Given the description of an element on the screen output the (x, y) to click on. 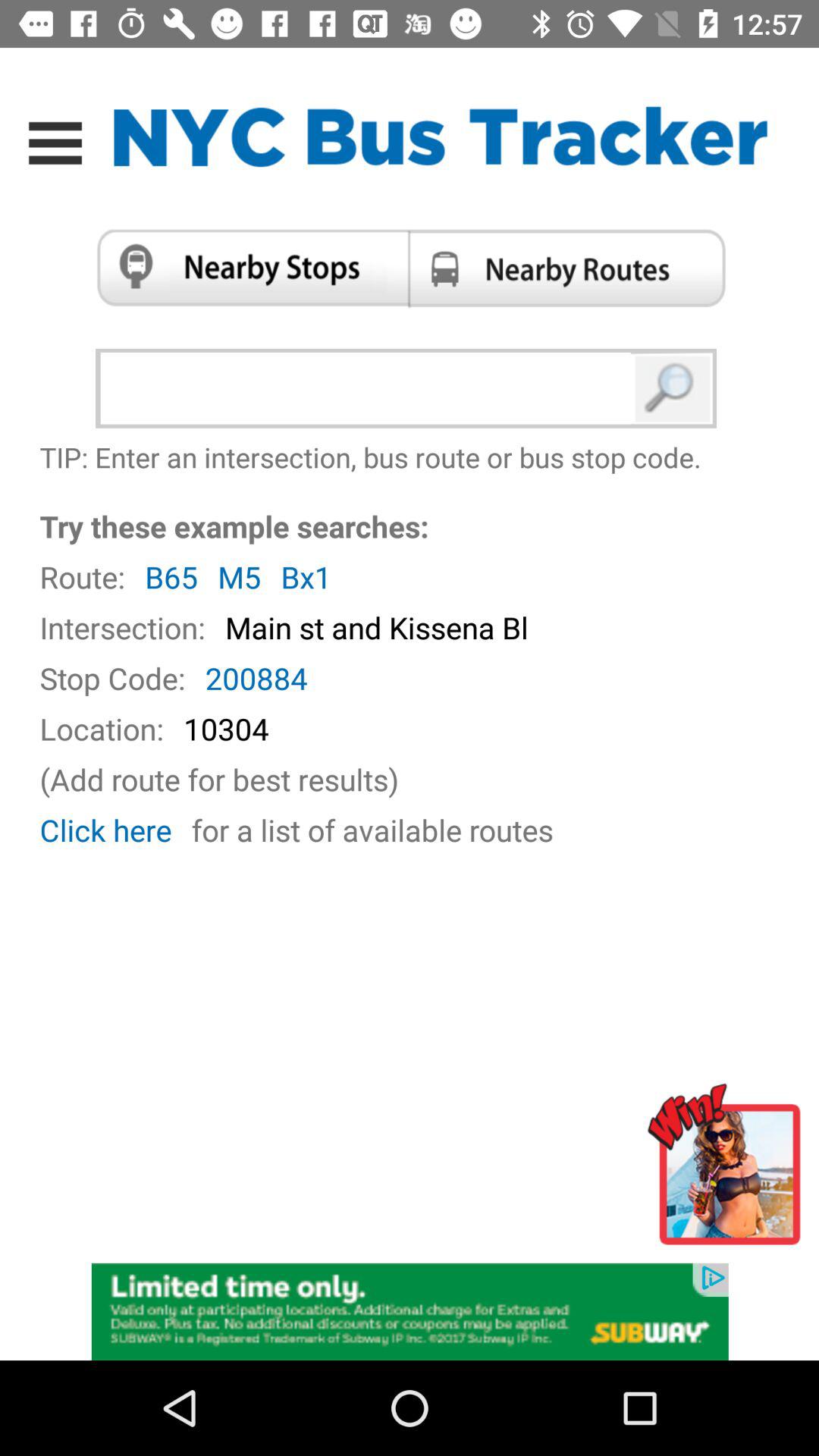
click for routes (571, 267)
